Given the description of an element on the screen output the (x, y) to click on. 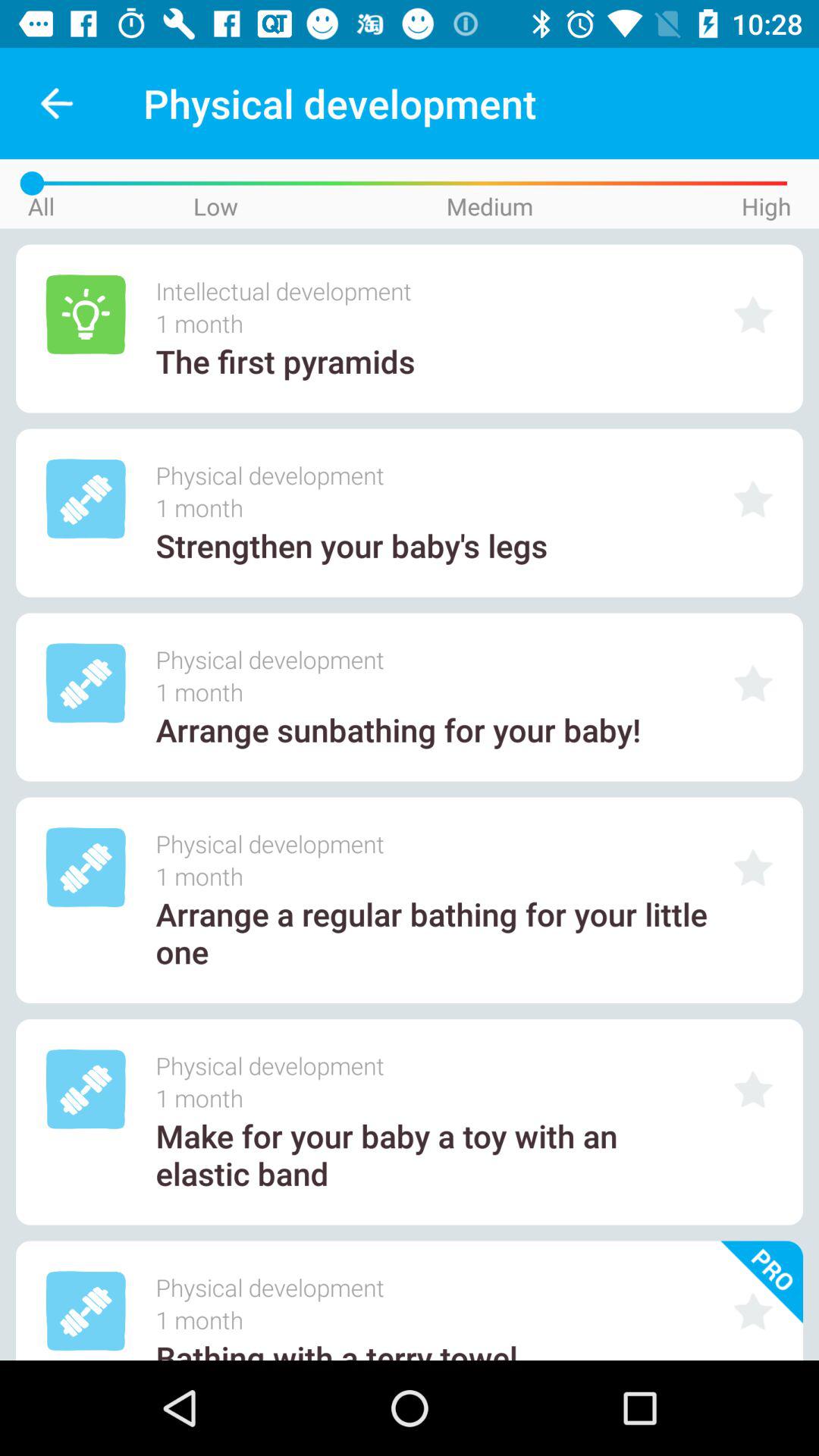
add to favorite (753, 1089)
